Given the description of an element on the screen output the (x, y) to click on. 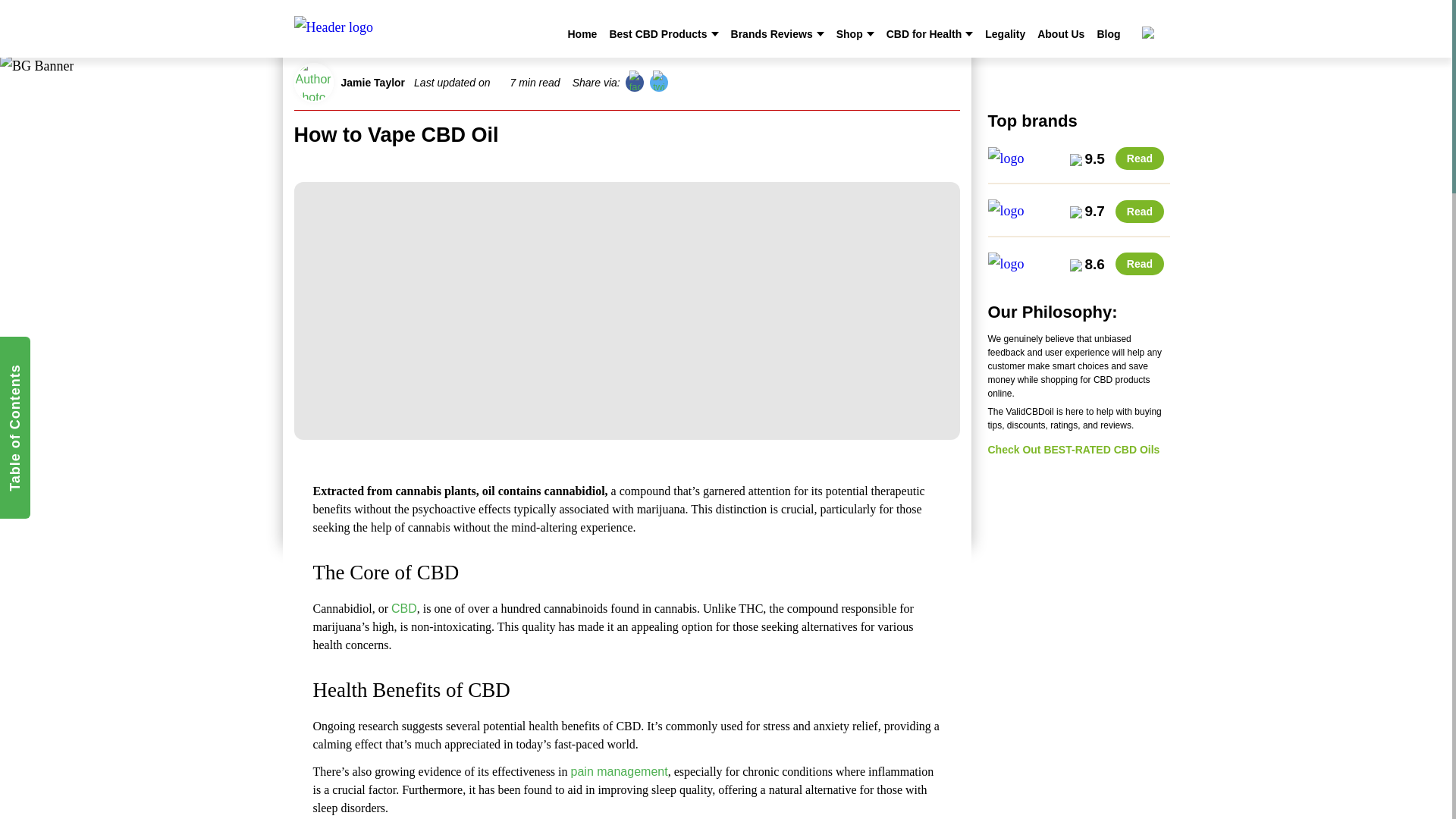
Best CBD Products (657, 33)
Home (581, 33)
CBD oil reviews (394, 30)
Brands Reviews (771, 33)
